Given the description of an element on the screen output the (x, y) to click on. 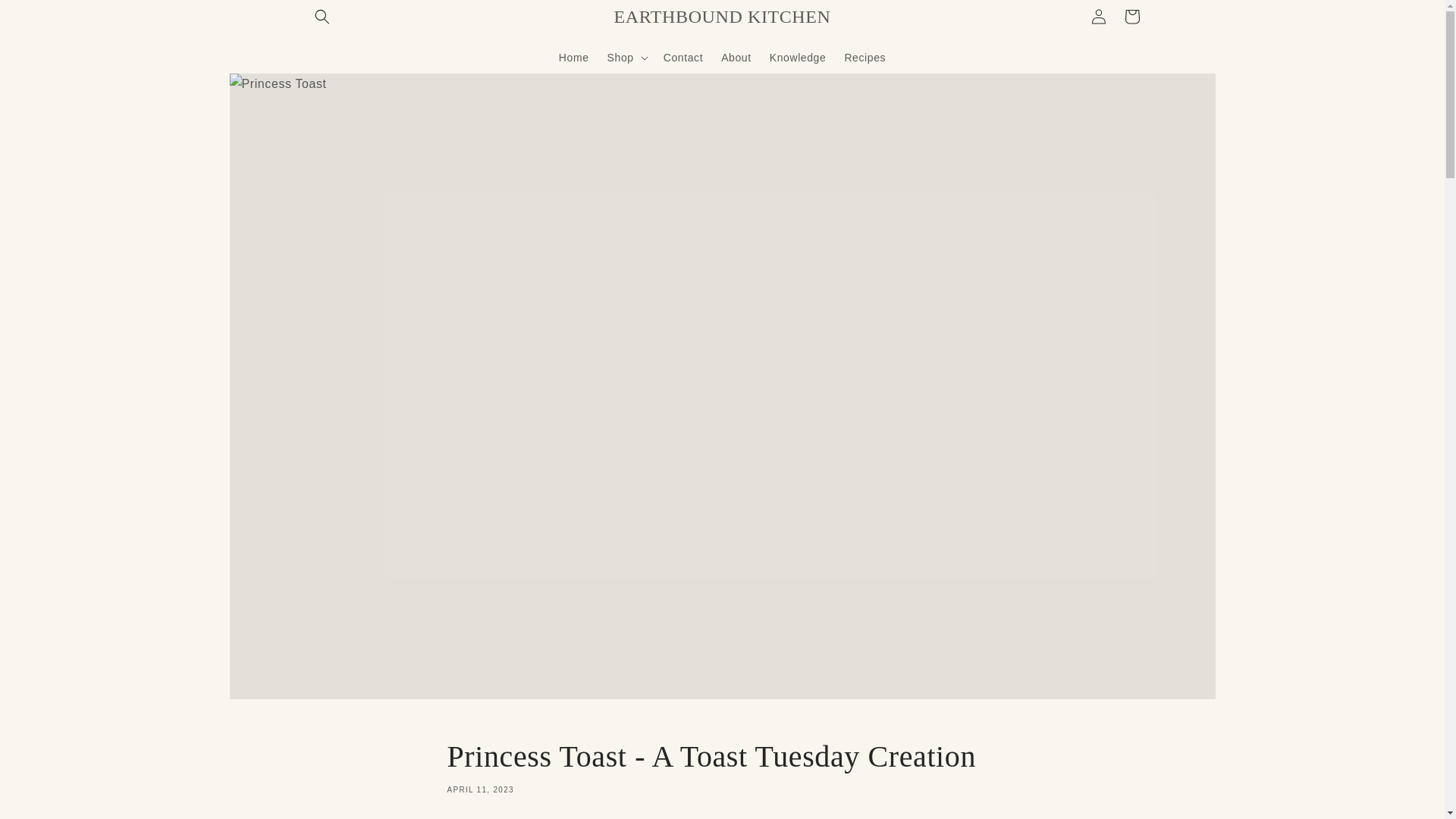
About (735, 56)
Contact (682, 56)
Recipes (864, 56)
EARTHBOUND KITCHEN (721, 16)
Cart (1131, 16)
Knowledge (797, 56)
Skip to content (45, 17)
Log in (1098, 16)
Home (574, 56)
